Given the description of an element on the screen output the (x, y) to click on. 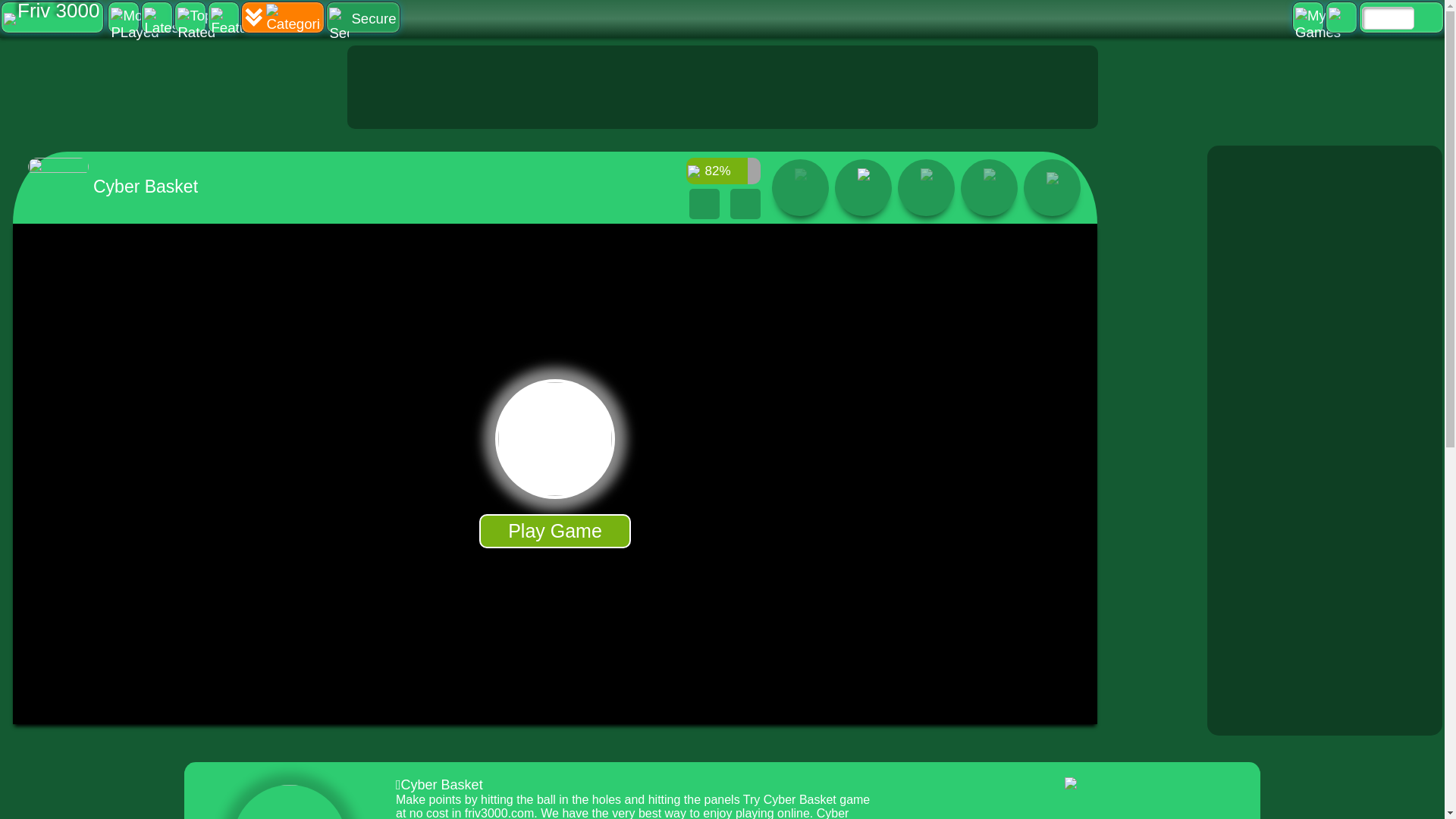
Friv 3000 (52, 17)
Play Game (554, 530)
Secure (362, 17)
